Given the description of an element on the screen output the (x, y) to click on. 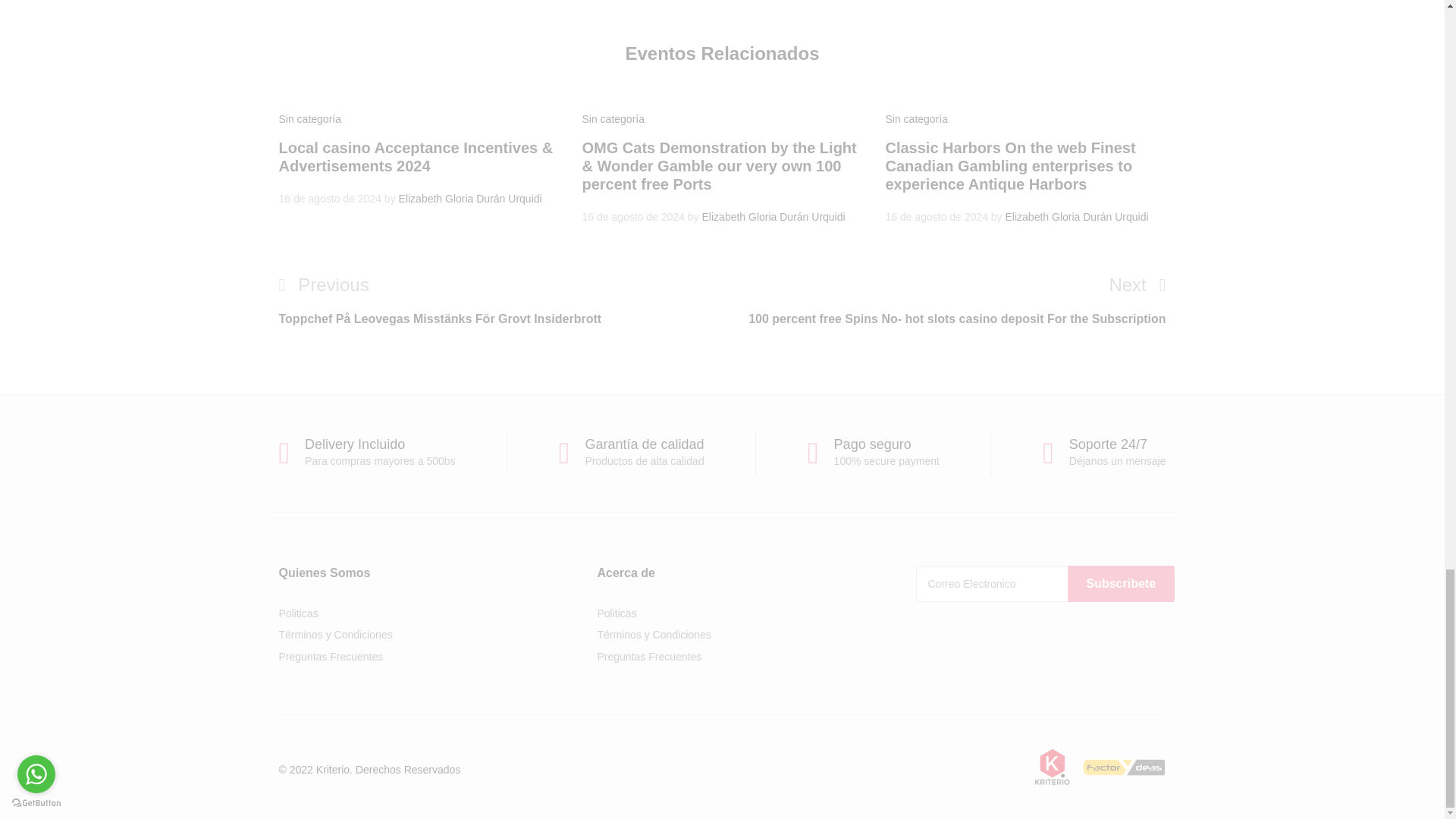
16 de agosto de 2024 (330, 198)
16 de agosto de 2024 (632, 216)
16 de agosto de 2024 (936, 216)
Subscribete (1120, 583)
